Given the description of an element on the screen output the (x, y) to click on. 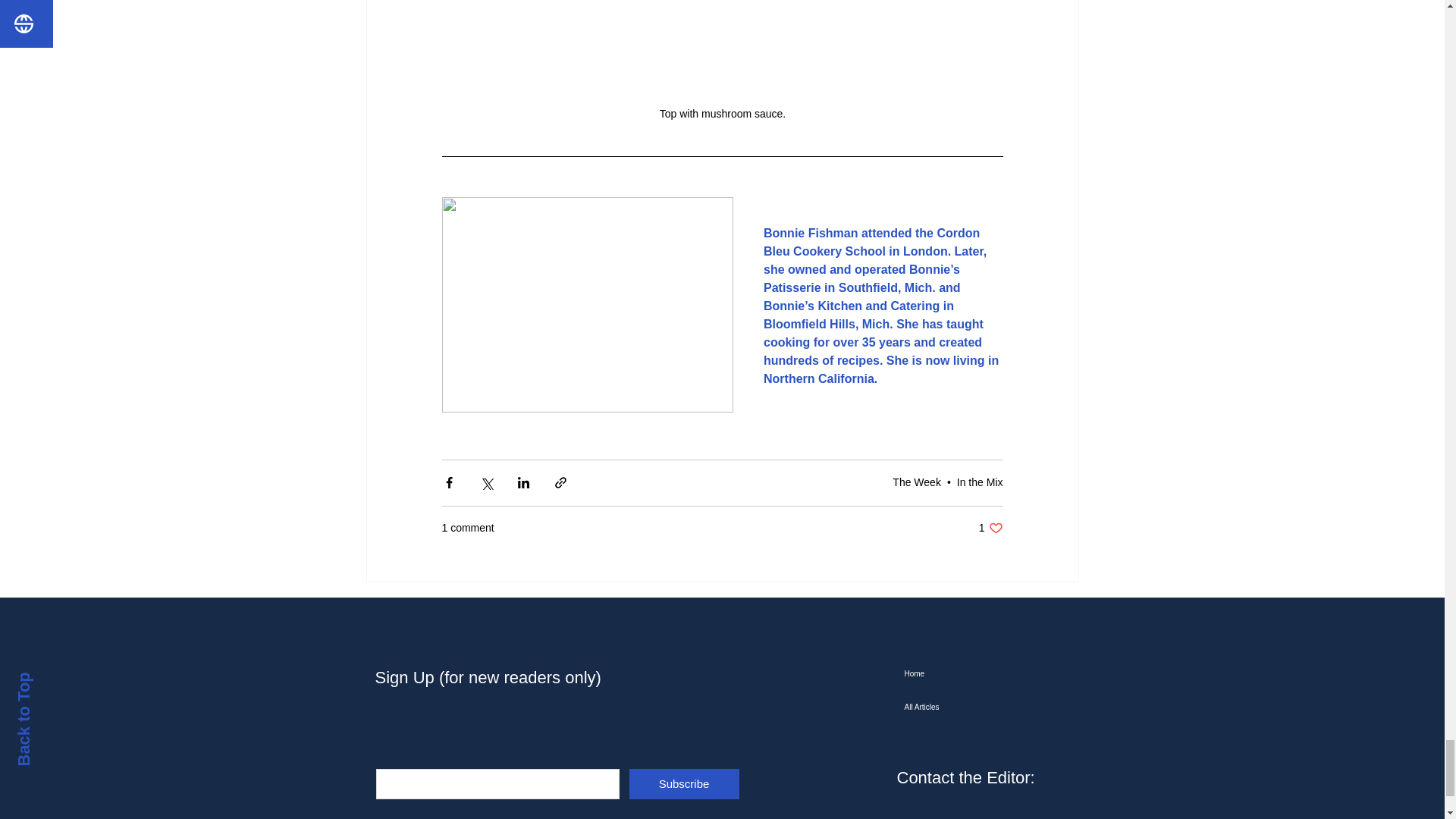
In the Mix (979, 481)
Subscribe (683, 784)
All Articles (980, 707)
Home (990, 527)
The Week (980, 674)
